Given the description of an element on the screen output the (x, y) to click on. 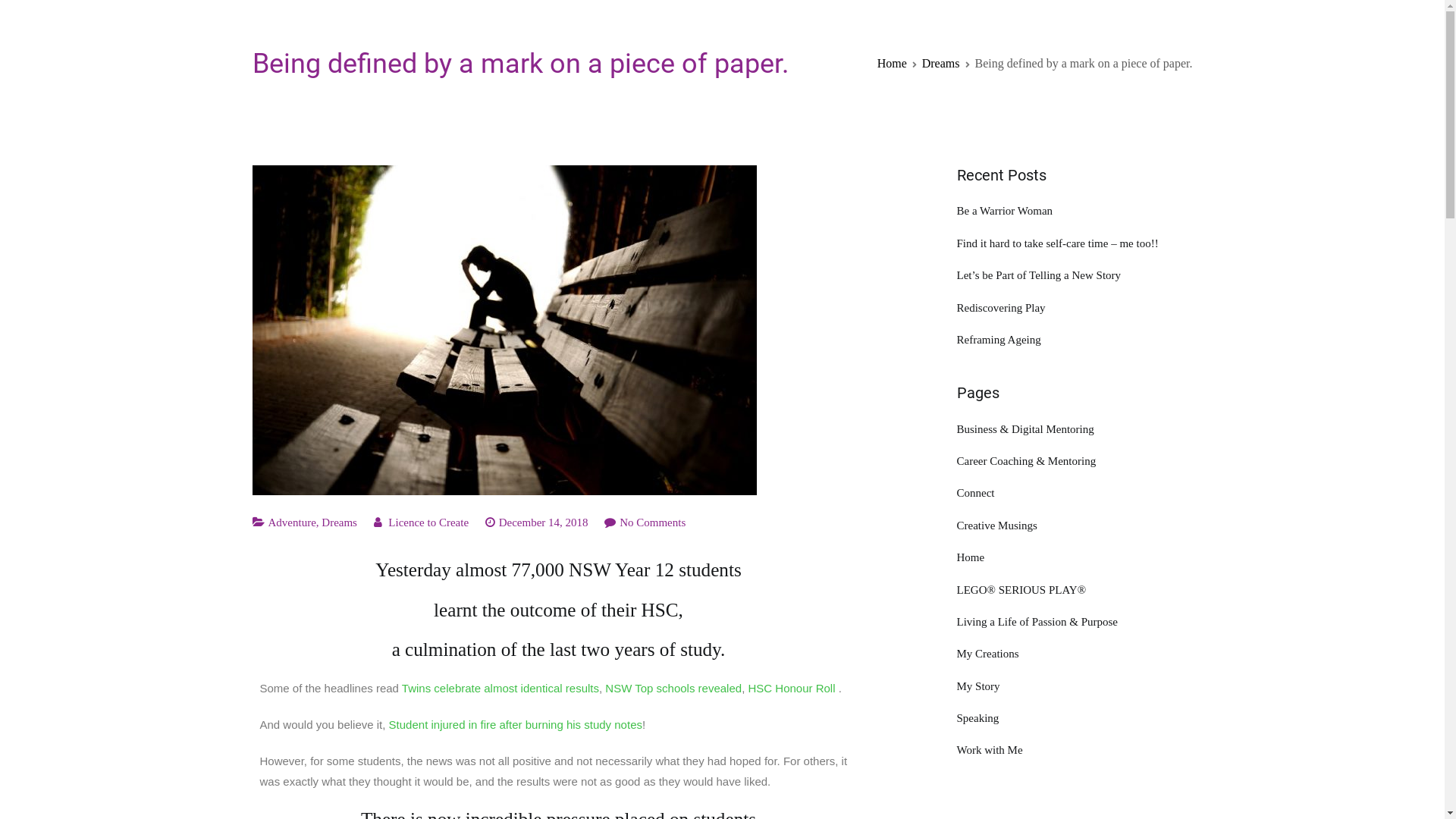
Dreams Element type: text (339, 522)
Speaking Element type: text (1074, 718)
Home Element type: text (891, 62)
Be a Warrior Woman Element type: text (1074, 210)
Dreams Element type: text (941, 62)
Living a Life of Passion & Purpose Element type: text (1074, 621)
Home Element type: text (1074, 557)
Creative Musings Element type: text (1074, 525)
Business & Digital Mentoring Element type: text (1074, 428)
Connect Element type: text (1074, 492)
Career Coaching & Mentoring Element type: text (1074, 460)
Rediscovering Play Element type: text (1074, 307)
Sandie O Element type: text (281, 22)
Student injured in fire after burning his study notes Element type: text (515, 724)
NSW Top schools revealed Element type: text (673, 687)
My Creations Element type: text (1074, 653)
No Comments Element type: text (652, 522)
Twins celebrate almost identical results Element type: text (500, 687)
December 14, 2018 Element type: text (543, 522)
HSC Honour Roll Element type: text (790, 687)
Reframing Ageing Element type: text (1074, 339)
Work with Me Element type: text (1074, 749)
Adventure Element type: text (292, 522)
My Story Element type: text (1074, 685)
Licence to Create Element type: text (428, 522)
